Given the description of an element on the screen output the (x, y) to click on. 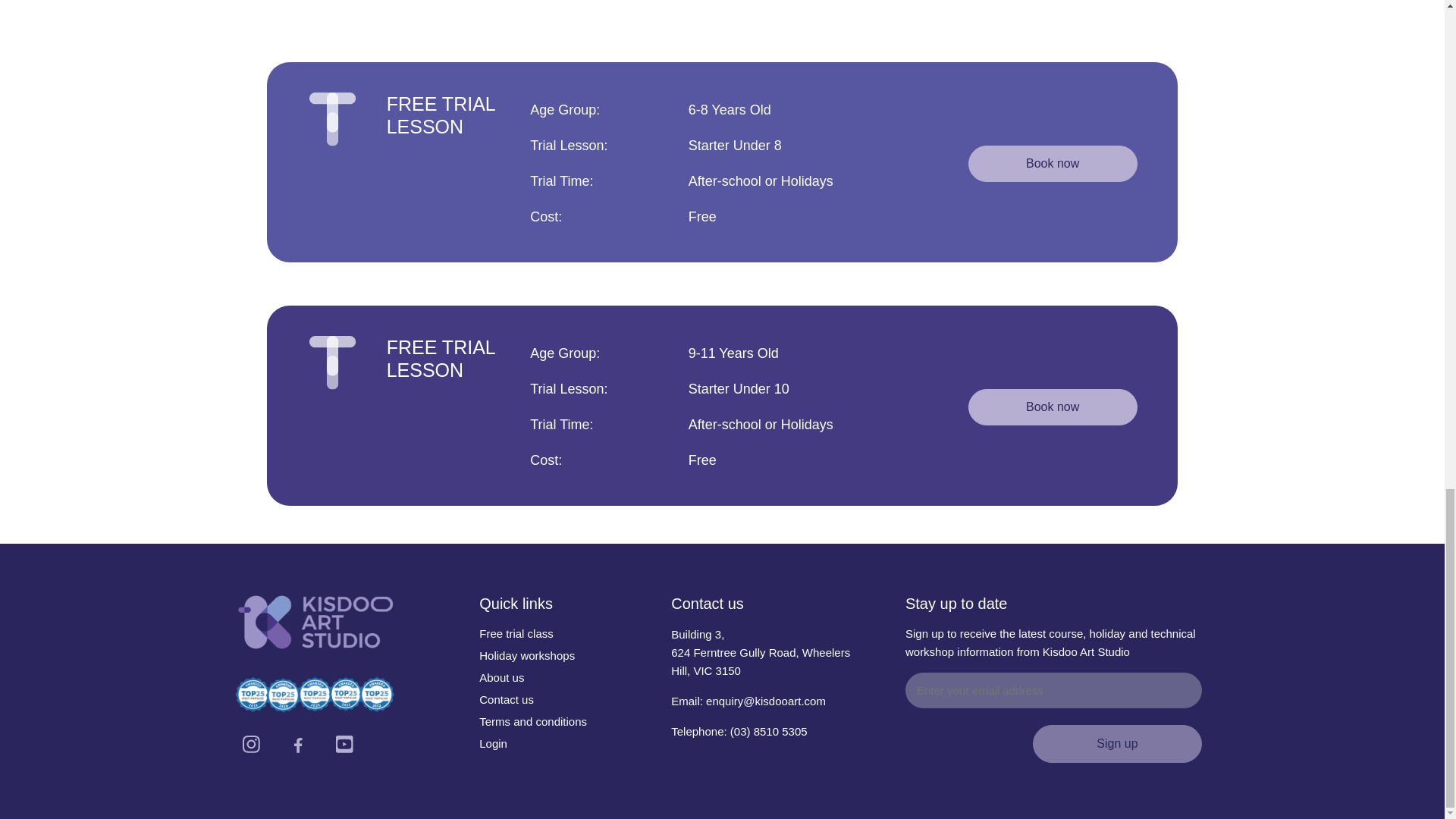
Book now (1052, 407)
Login (492, 743)
Free trial class (516, 633)
Sign up (1117, 743)
Sign up (1117, 743)
Terms and conditions (532, 721)
Book now (1052, 163)
Holiday workshops (527, 655)
Contact us (506, 698)
About us (501, 676)
